Given the description of an element on the screen output the (x, y) to click on. 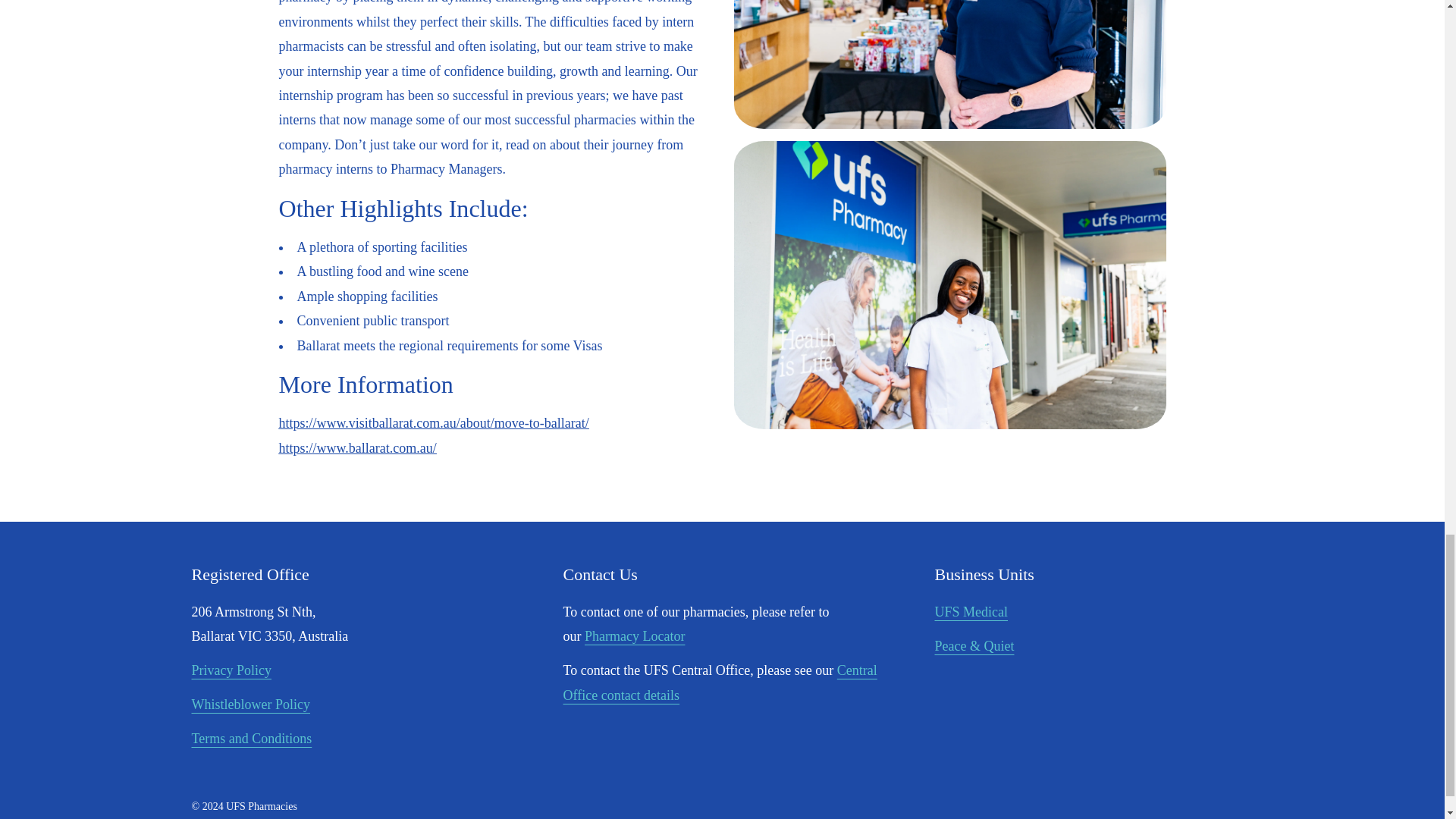
Pharmacy Directory (634, 635)
Privacy Policy (230, 670)
Whistleblower Policy (249, 703)
Terms and Conditions (250, 738)
Contact us (719, 681)
